Given the description of an element on the screen output the (x, y) to click on. 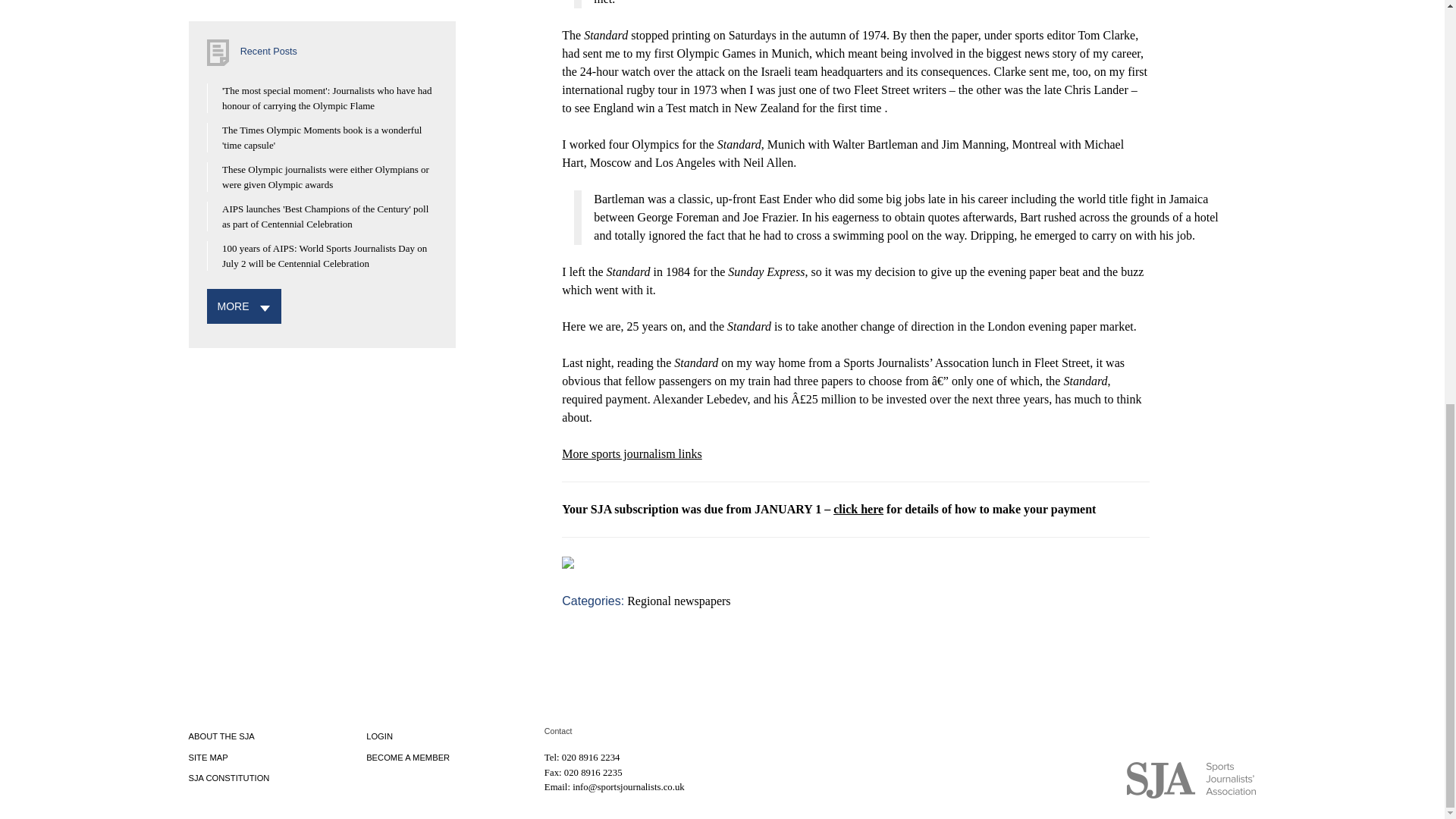
View more posts from the archive (232, 306)
More sports journalism links (631, 453)
LOGIN (379, 736)
More sports journalism links (631, 453)
SITE MAP (207, 757)
MORE (232, 306)
Regional newspapers (678, 600)
BECOME A MEMBER (407, 757)
The Times Olympic Moments book is a wonderful 'time capsule' (322, 137)
ABOUT THE SJA (220, 736)
click here (857, 508)
